Given the description of an element on the screen output the (x, y) to click on. 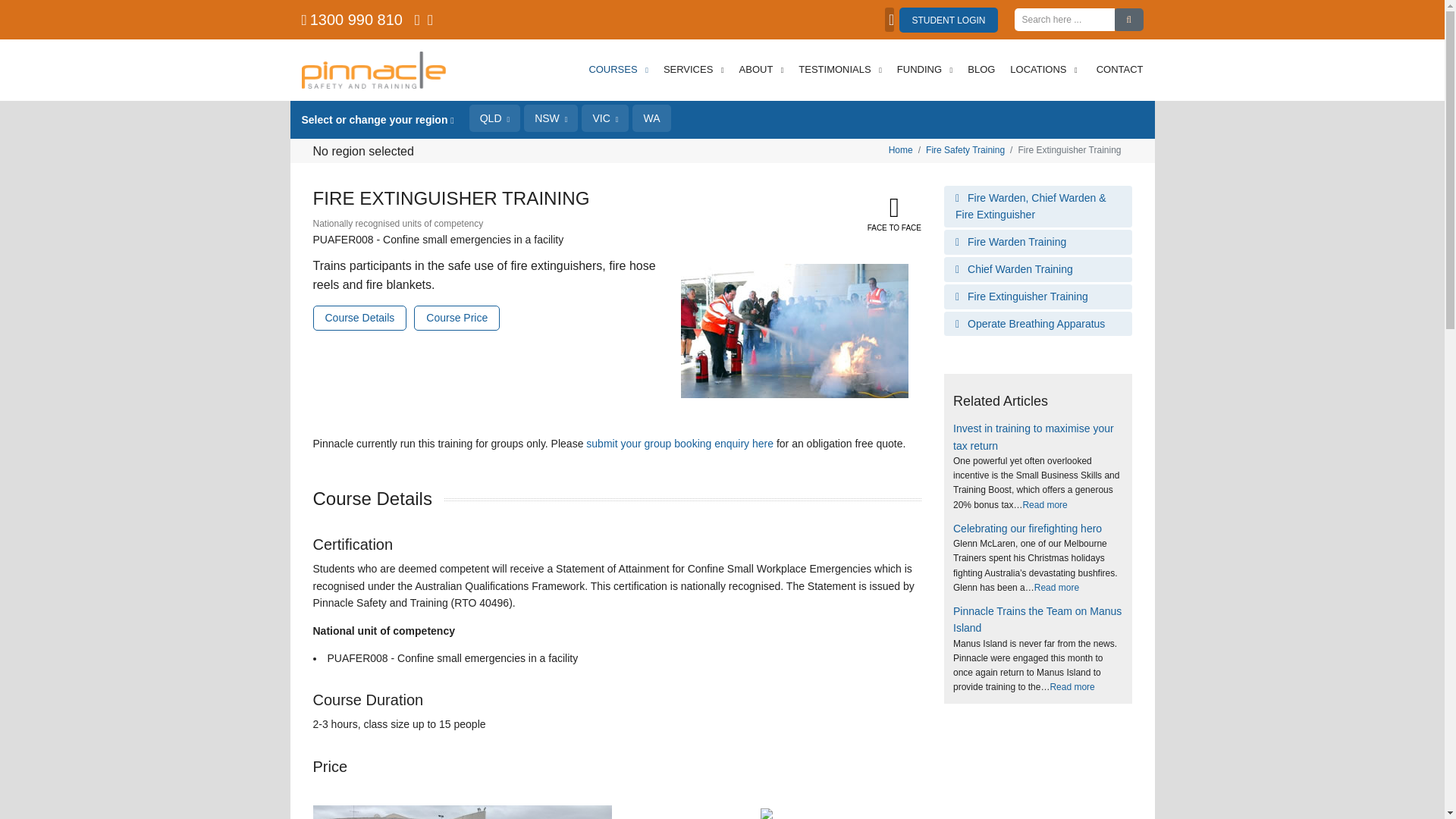
STUDENT LOGIN (948, 19)
TESTIMONIALS (839, 69)
SERVICES (694, 69)
1300 990 810 (356, 19)
COURSES (617, 69)
ABOUT (762, 69)
